Given the description of an element on the screen output the (x, y) to click on. 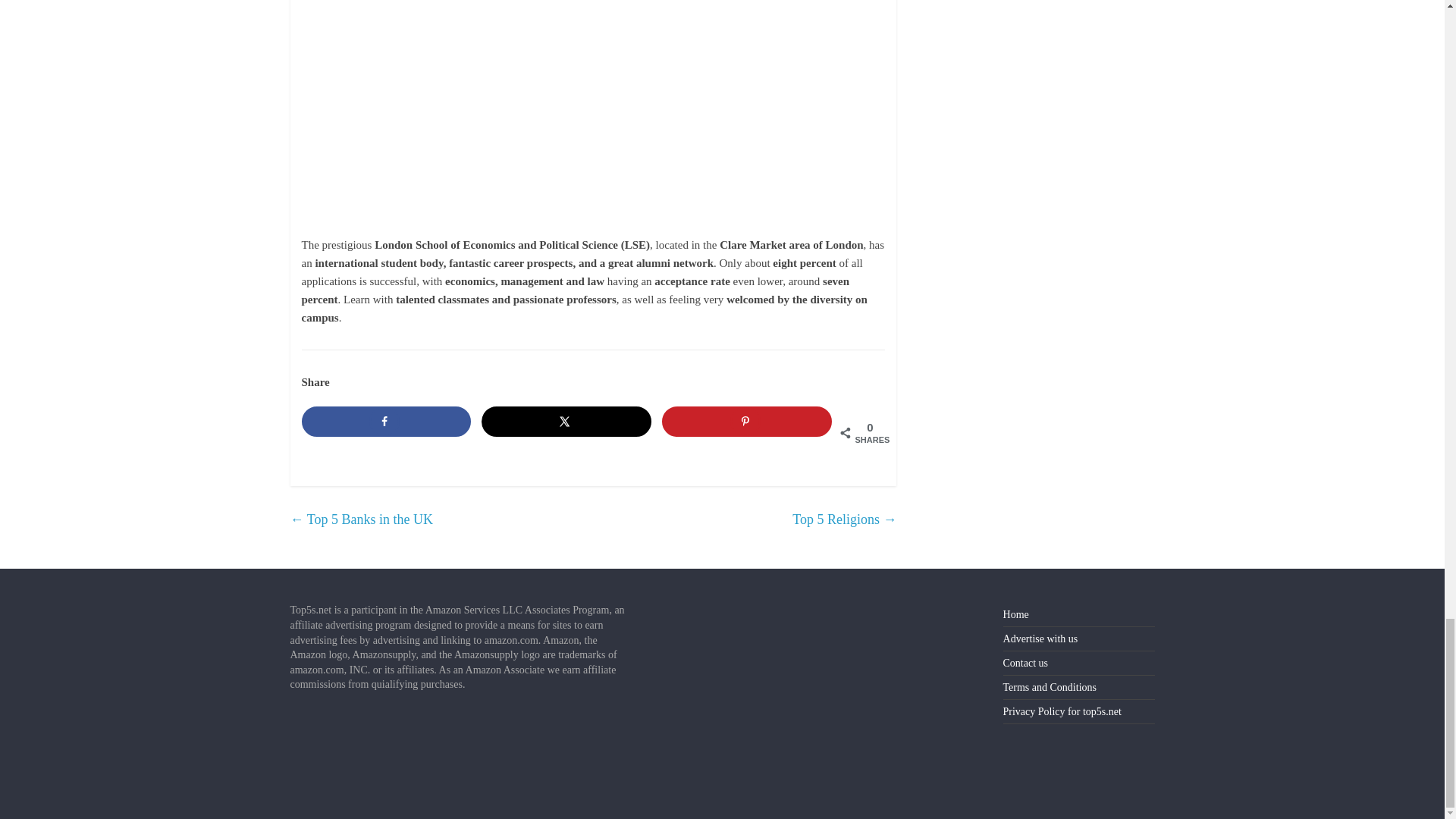
Share on X (565, 421)
Save to Pinterest (746, 421)
Share on Facebook (386, 421)
